Given the description of an element on the screen output the (x, y) to click on. 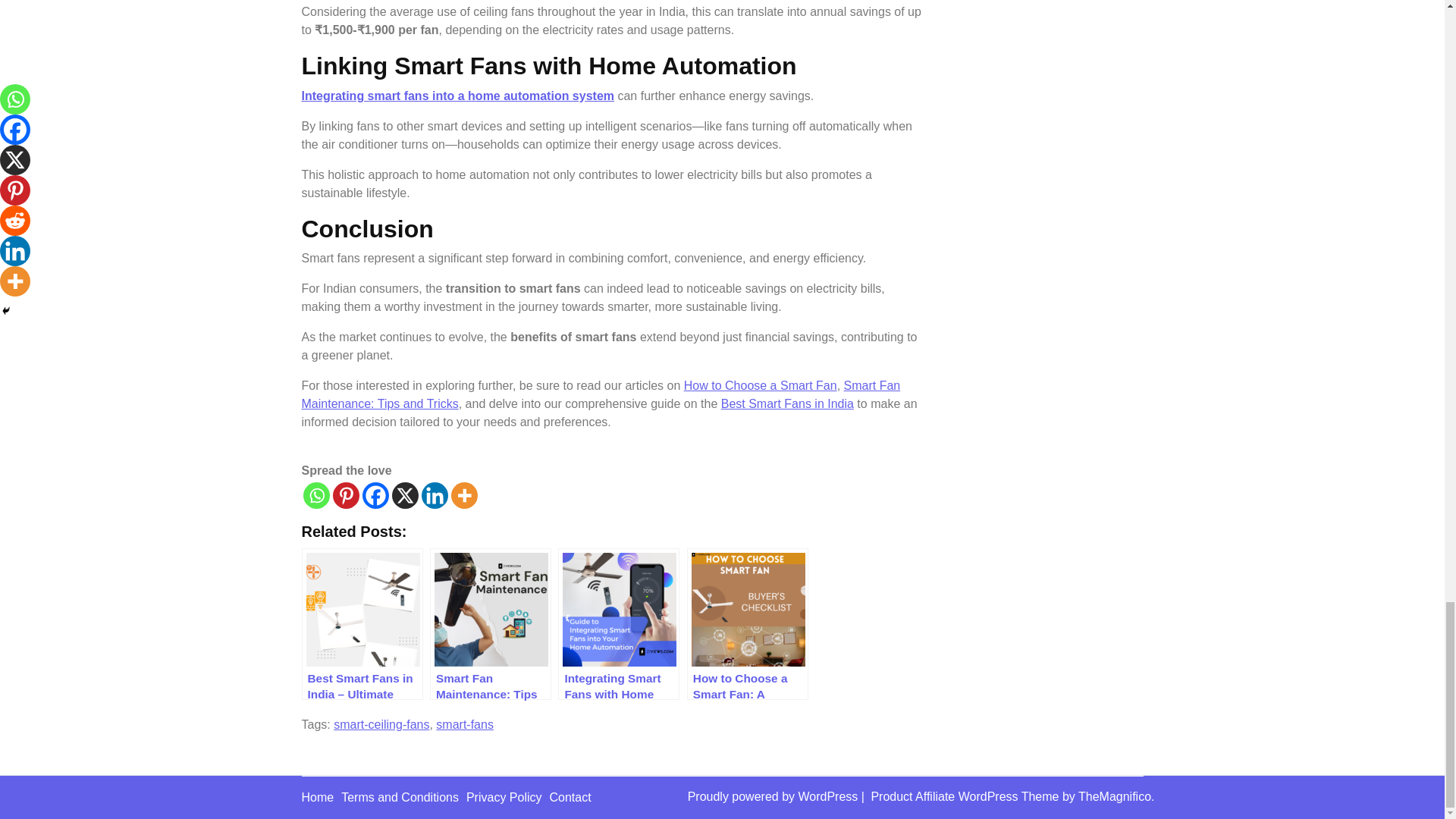
Linkedin (435, 495)
X (404, 495)
Facebook (375, 495)
Whatsapp (316, 495)
More (463, 495)
Pinterest (344, 495)
